Given the description of an element on the screen output the (x, y) to click on. 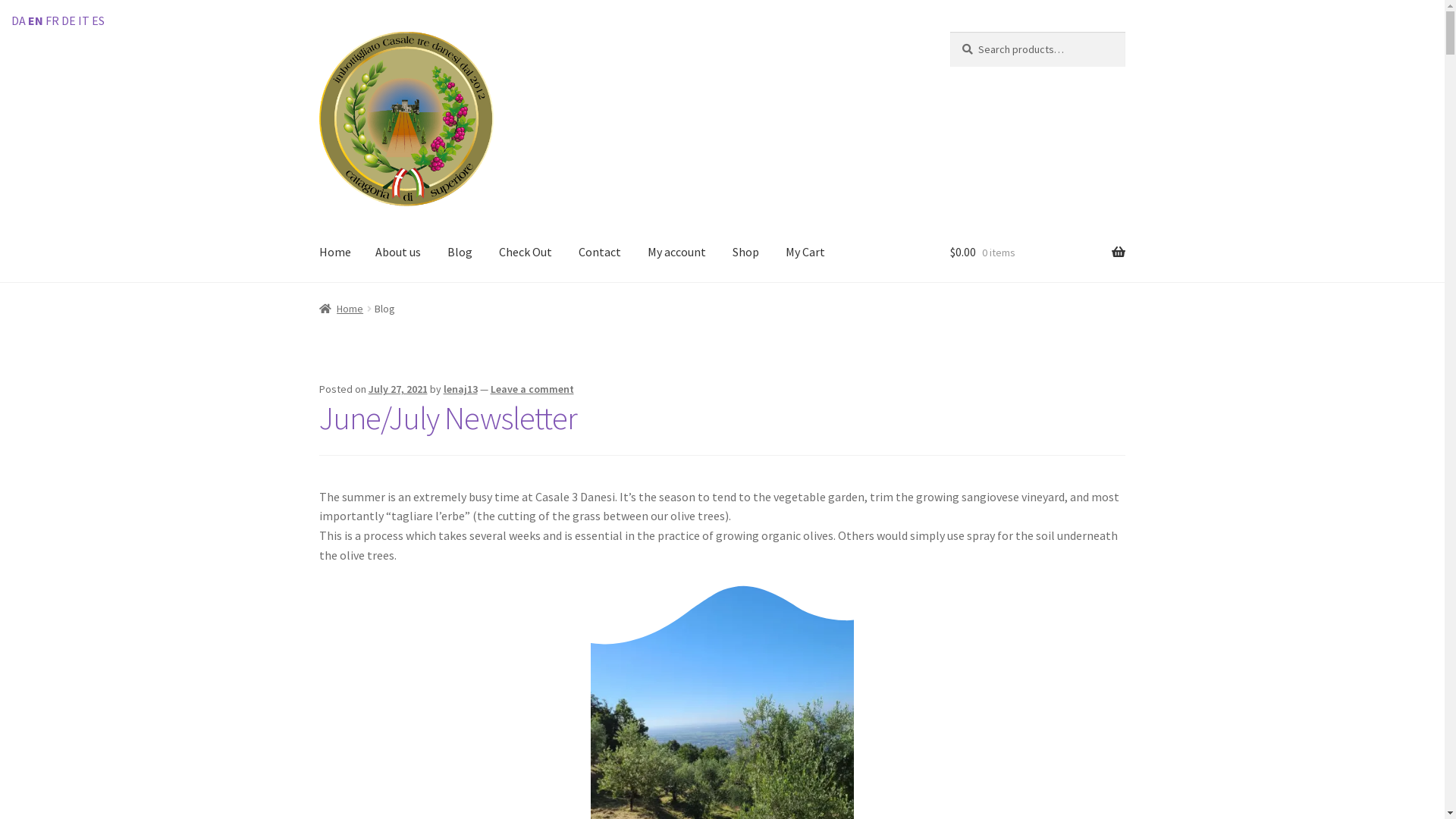
Home Element type: text (341, 308)
My Cart Element type: text (805, 252)
FR Element type: text (52, 20)
Blog Element type: text (459, 252)
Search Element type: text (949, 31)
$0.00 0 items Element type: text (1037, 252)
DE Element type: text (68, 20)
IT Element type: text (83, 20)
Contact Element type: text (599, 252)
About us Element type: text (398, 252)
EN Element type: text (35, 20)
My account Element type: text (676, 252)
DA Element type: text (18, 20)
July 27, 2021 Element type: text (397, 388)
lenaj13 Element type: text (460, 388)
Home Element type: text (335, 252)
Skip to navigation Element type: text (318, 31)
Leave a comment Element type: text (532, 388)
ES Element type: text (97, 20)
June/July Newsletter Element type: text (448, 417)
Shop Element type: text (745, 252)
Check Out Element type: text (525, 252)
